Given the description of an element on the screen output the (x, y) to click on. 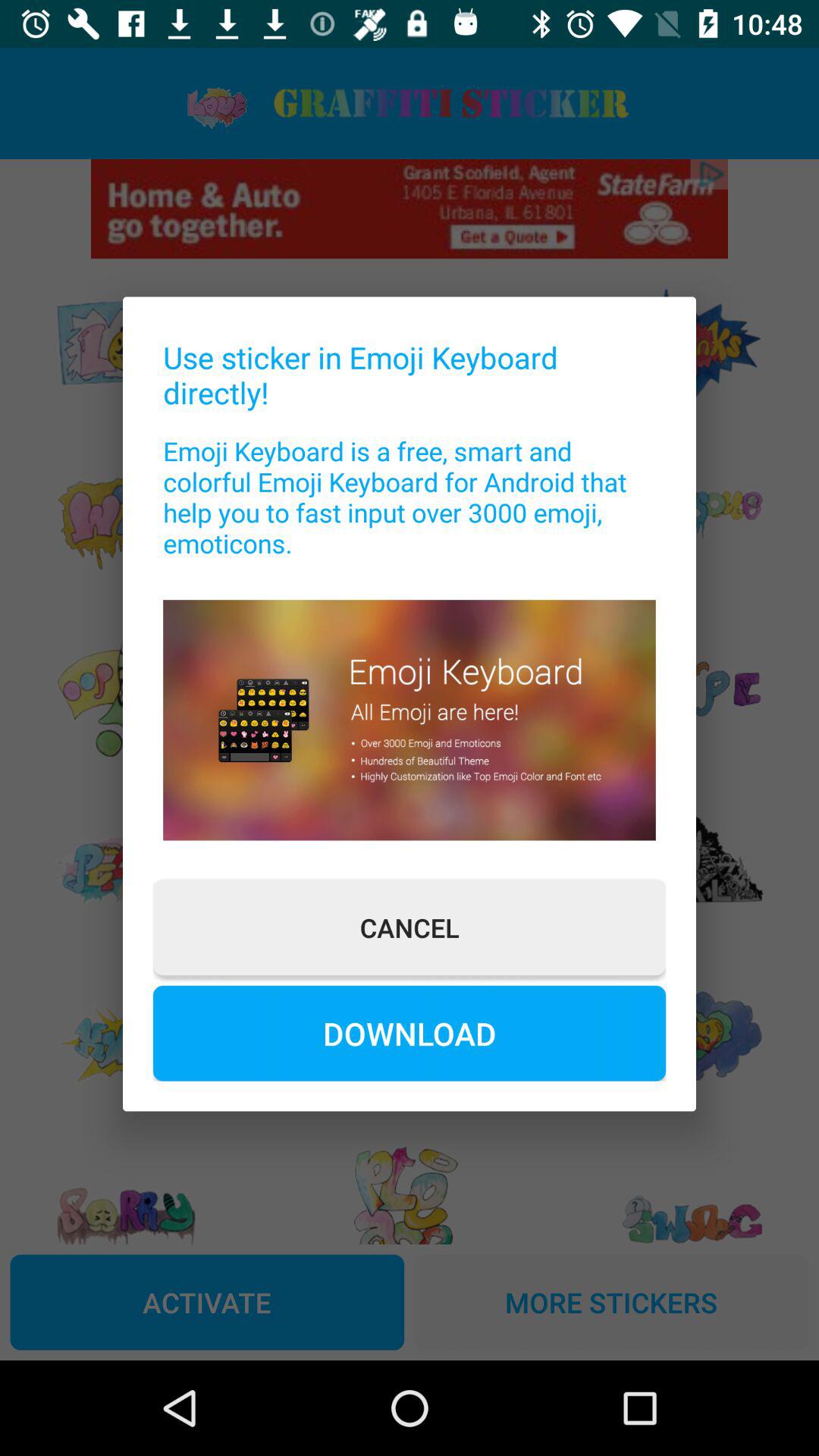
tap cancel item (409, 927)
